Given the description of an element on the screen output the (x, y) to click on. 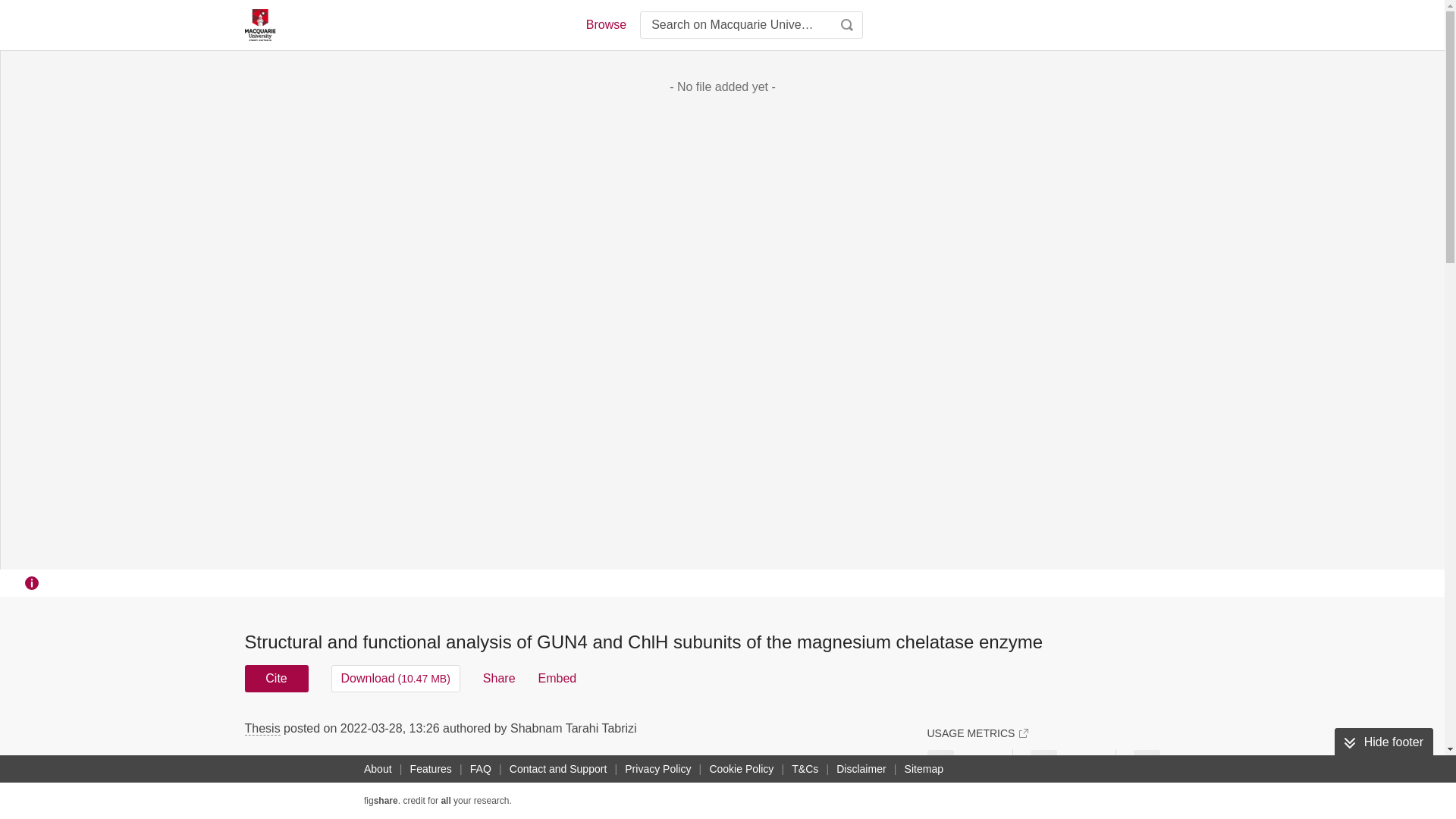
FAQ (480, 769)
Disclaimer (860, 769)
Features (431, 769)
Privacy Policy (657, 769)
Hide footer (1383, 742)
About (377, 769)
Contact and Support (558, 769)
USAGE METRICS (976, 732)
Cite (275, 678)
Cookie Policy (740, 769)
